Given the description of an element on the screen output the (x, y) to click on. 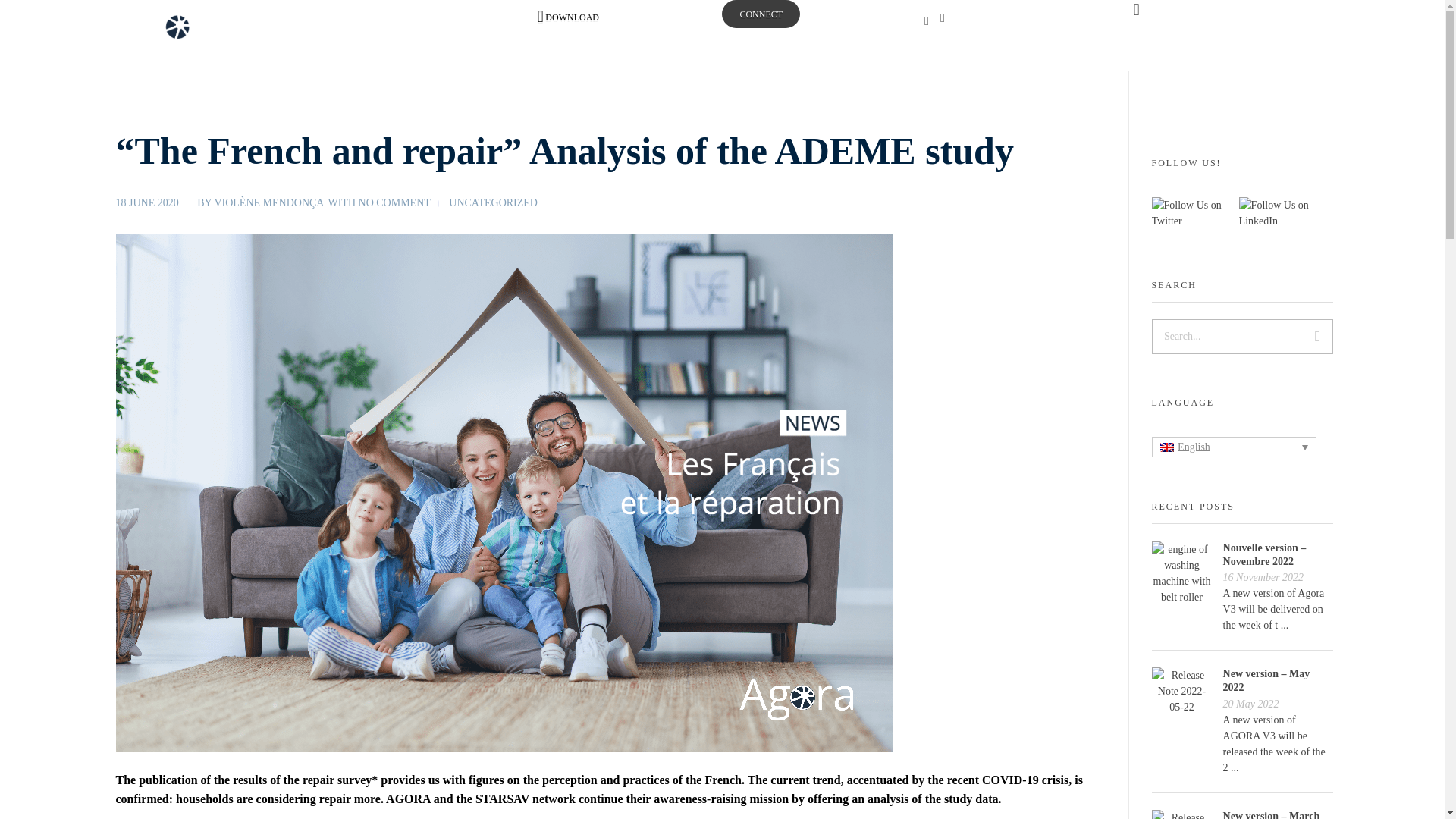
DOWNLOAD (567, 17)
Follow Us on Twitter (1190, 213)
Follow Us on LinkedIn (1281, 213)
Agora Plus (212, 33)
Agora Plus (163, 74)
CONNECT (760, 13)
View all posts in Uncategorized (492, 202)
UNCATEGORIZED (492, 202)
Agora Plus (163, 74)
